Given the description of an element on the screen output the (x, y) to click on. 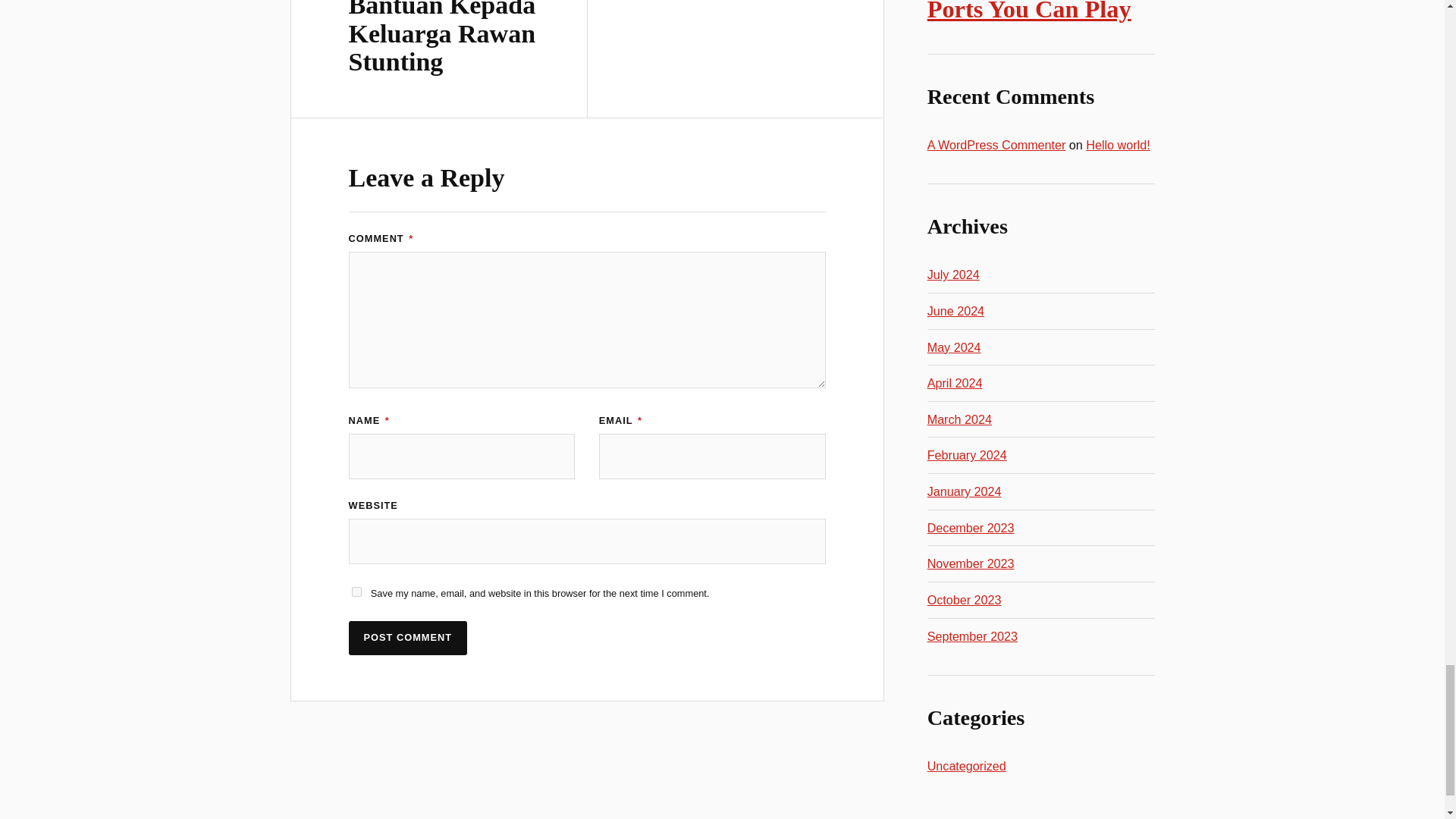
Post Comment (408, 637)
yes (356, 592)
Post Comment (408, 637)
